Given the description of an element on the screen output the (x, y) to click on. 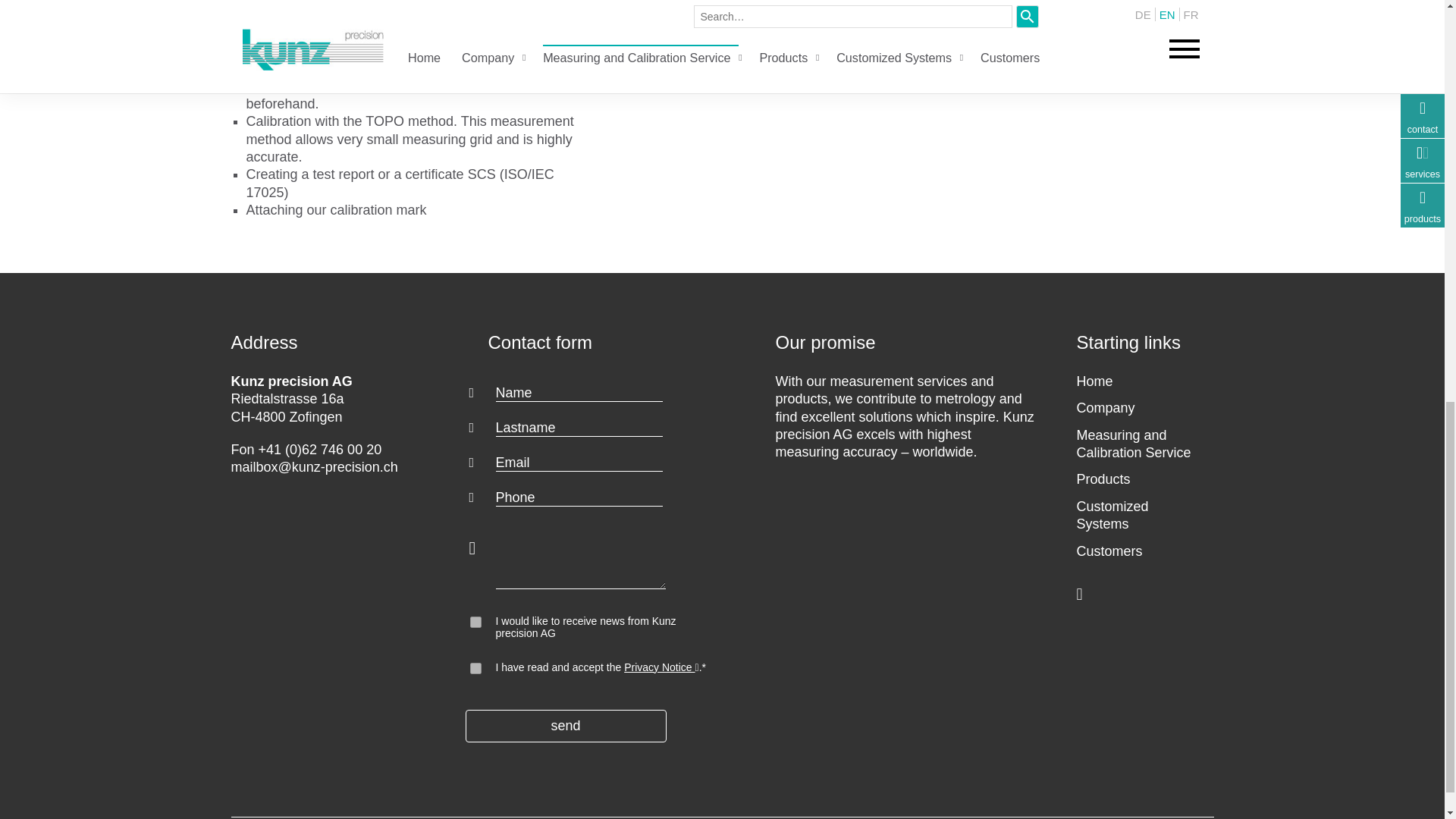
I would like to receive news from Kunz precision AG (475, 622)
